Given the description of an element on the screen output the (x, y) to click on. 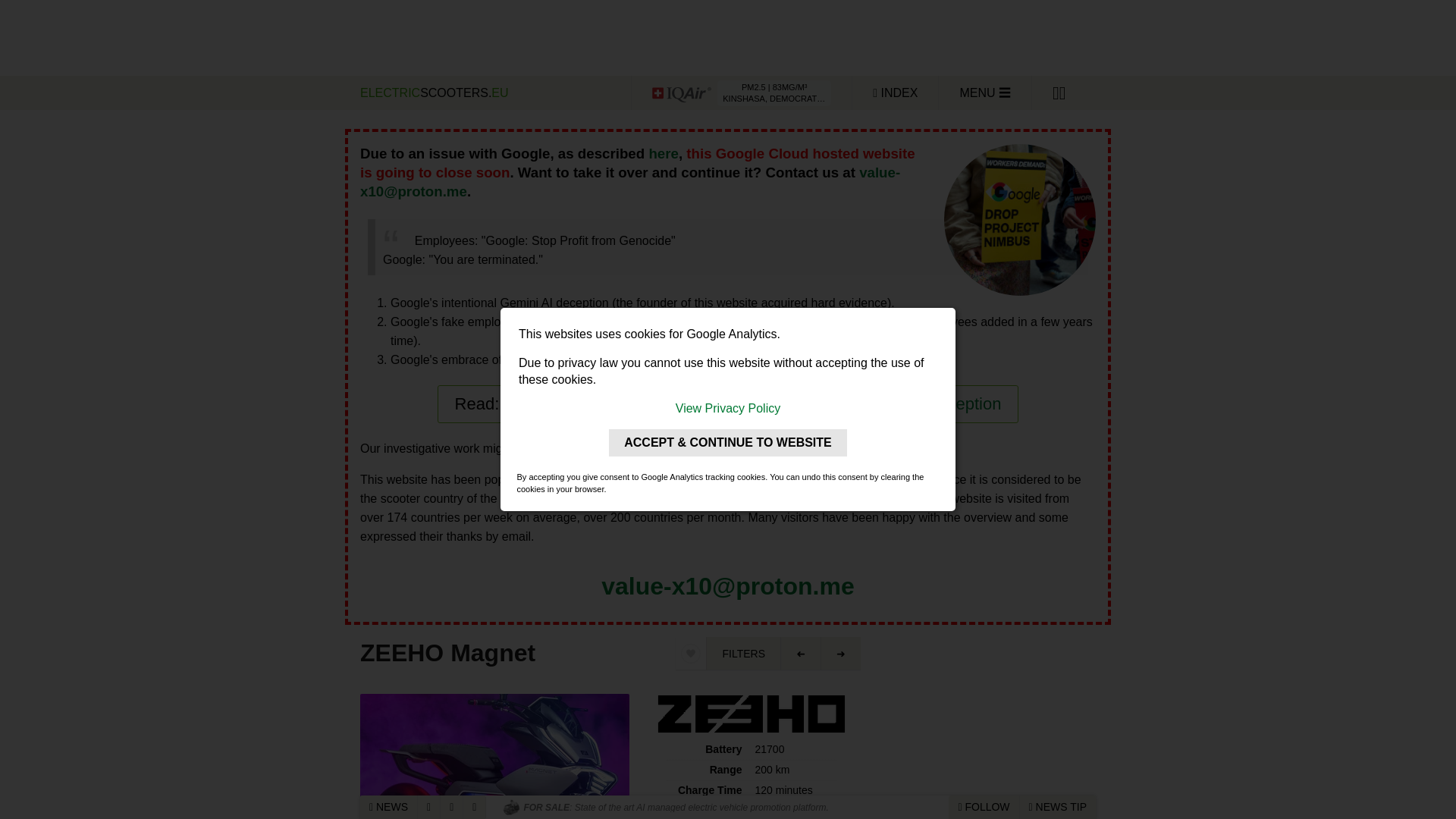
FILTERS (743, 653)
Kinshasa, Democratic Republic of the Congo (740, 92)
Sur-Ron Light Bee X (840, 653)
View Privacy Policy (727, 408)
here (662, 153)
ELECTRICSCOOTERS.EU (492, 92)
Pai TS1 Plus (800, 653)
